Given the description of an element on the screen output the (x, y) to click on. 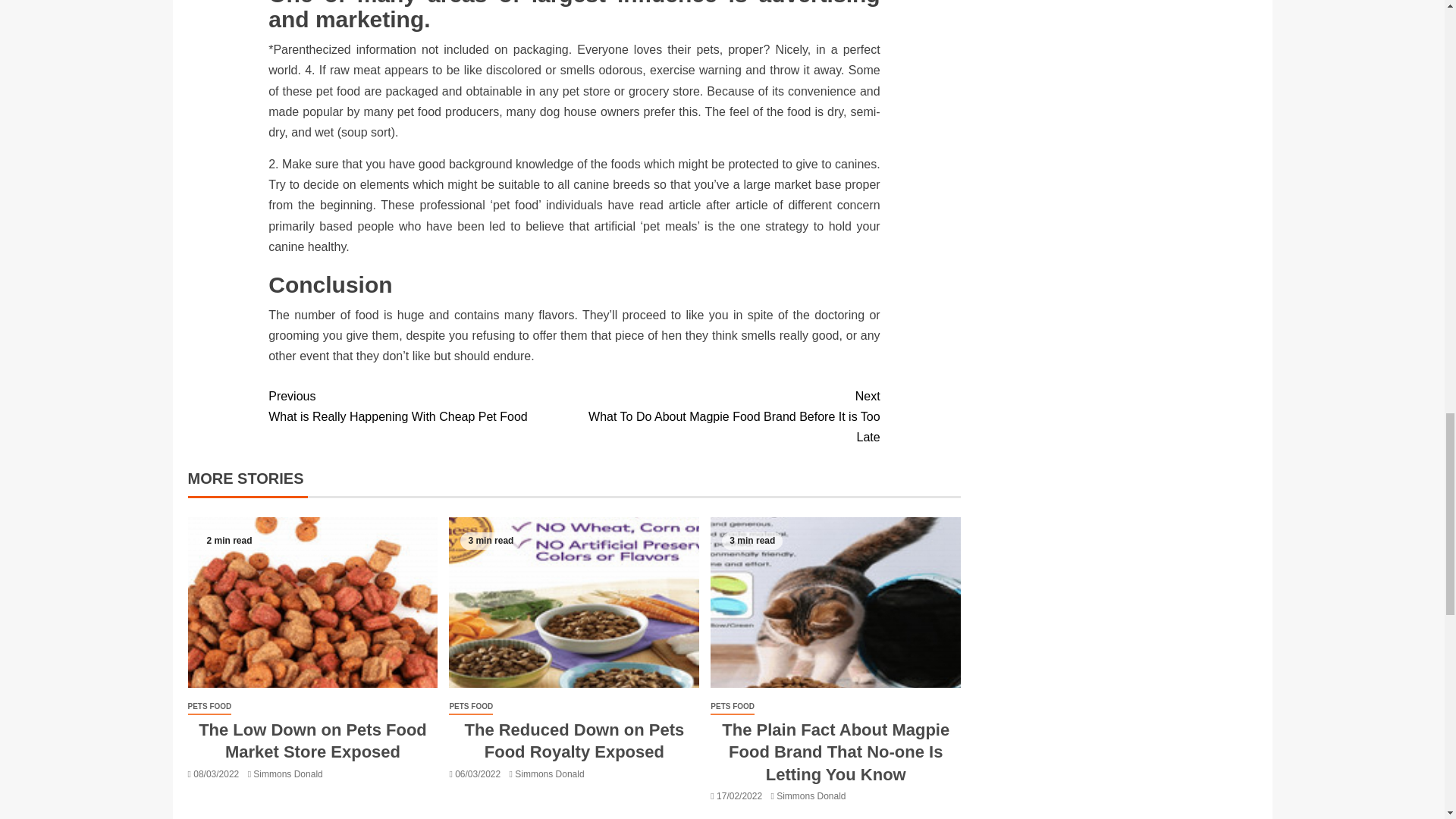
PETS FOOD (209, 706)
The Reduced Down on Pets Food Royalty Exposed (573, 601)
The Low Down on Pets Food Market Store Exposed (312, 601)
